Given the description of an element on the screen output the (x, y) to click on. 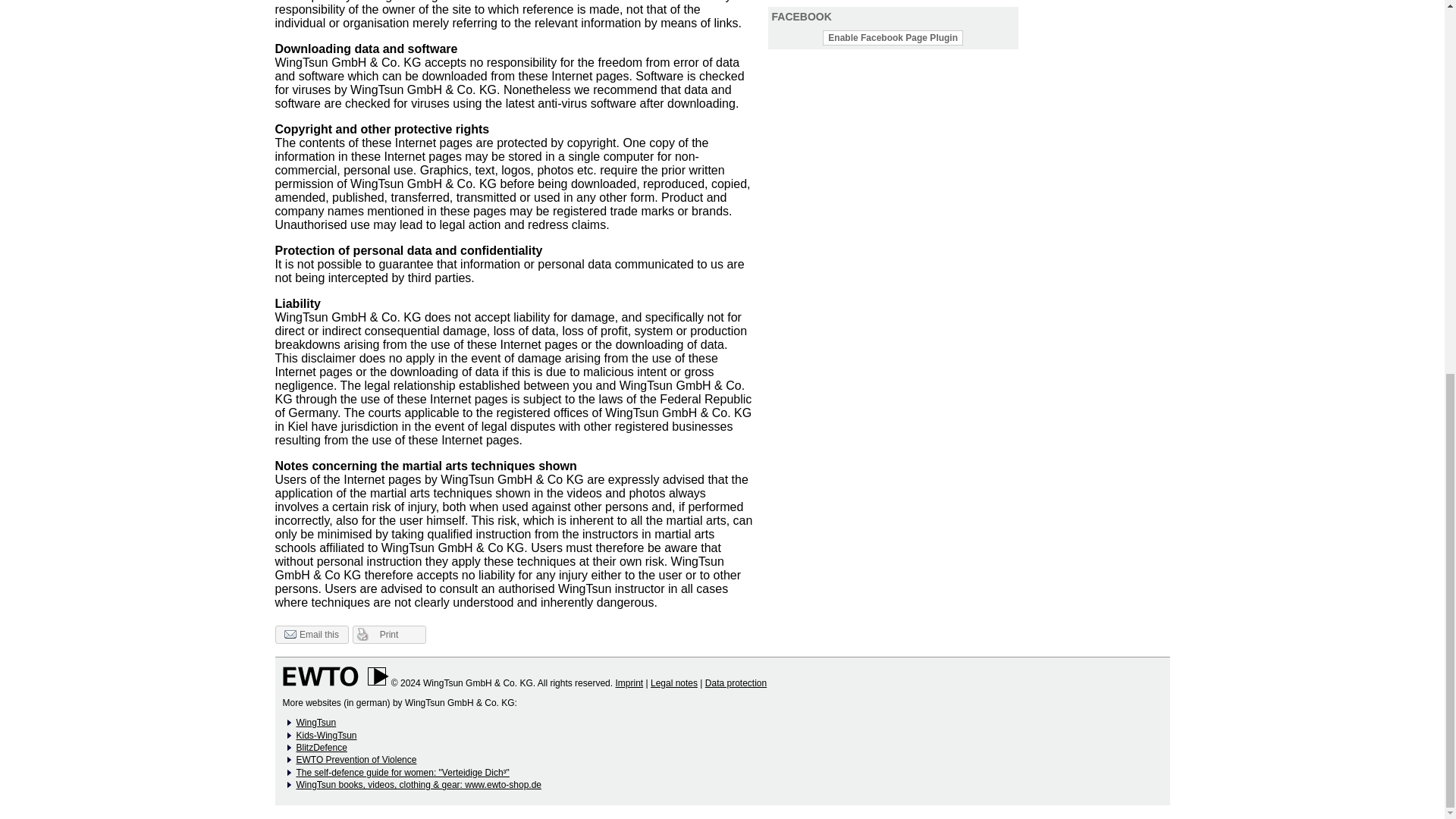
Email this (311, 634)
Forward this page to a friend (311, 634)
Print (388, 634)
